Given the description of an element on the screen output the (x, y) to click on. 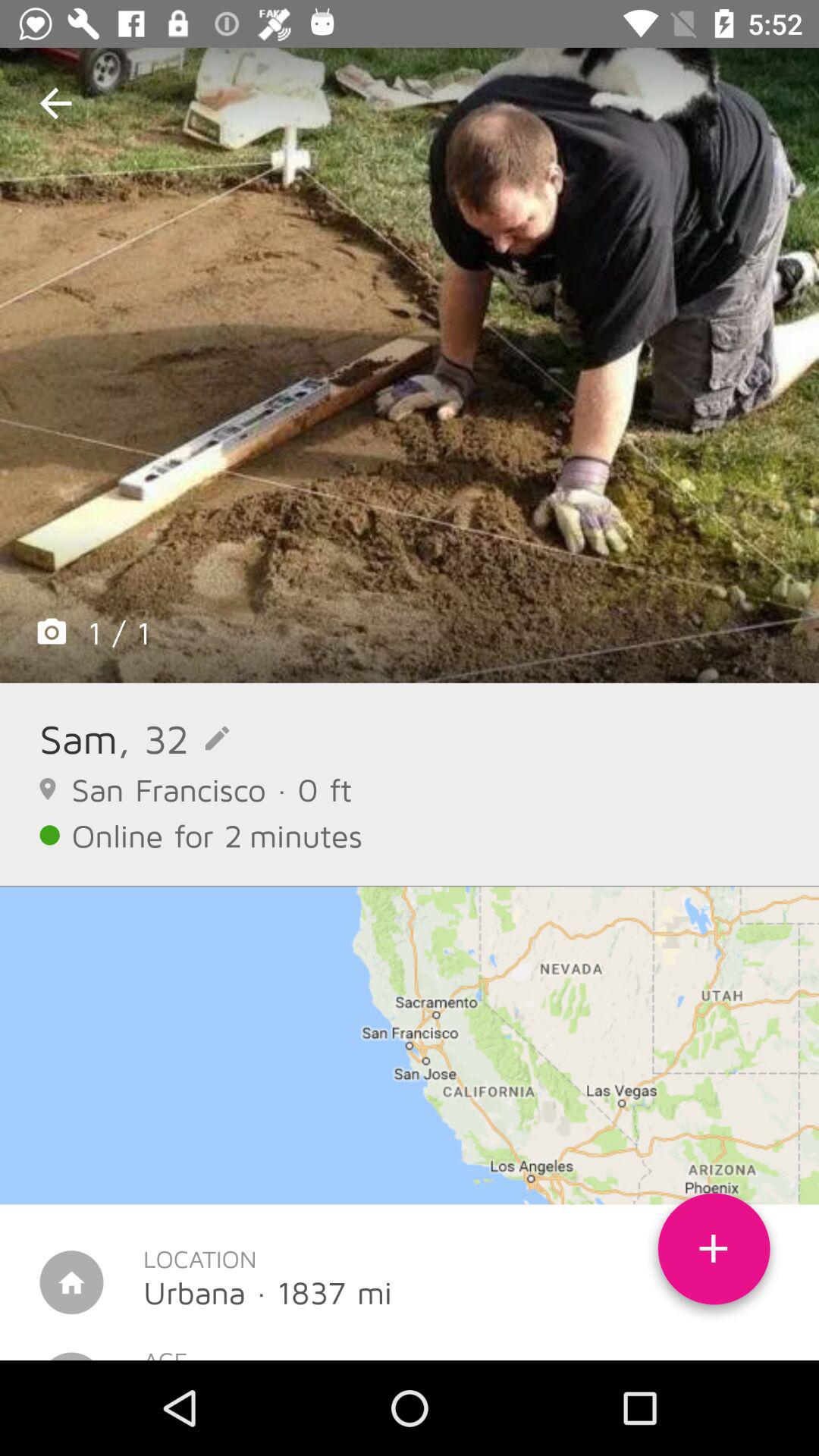
open , 32 (173, 738)
